Given the description of an element on the screen output the (x, y) to click on. 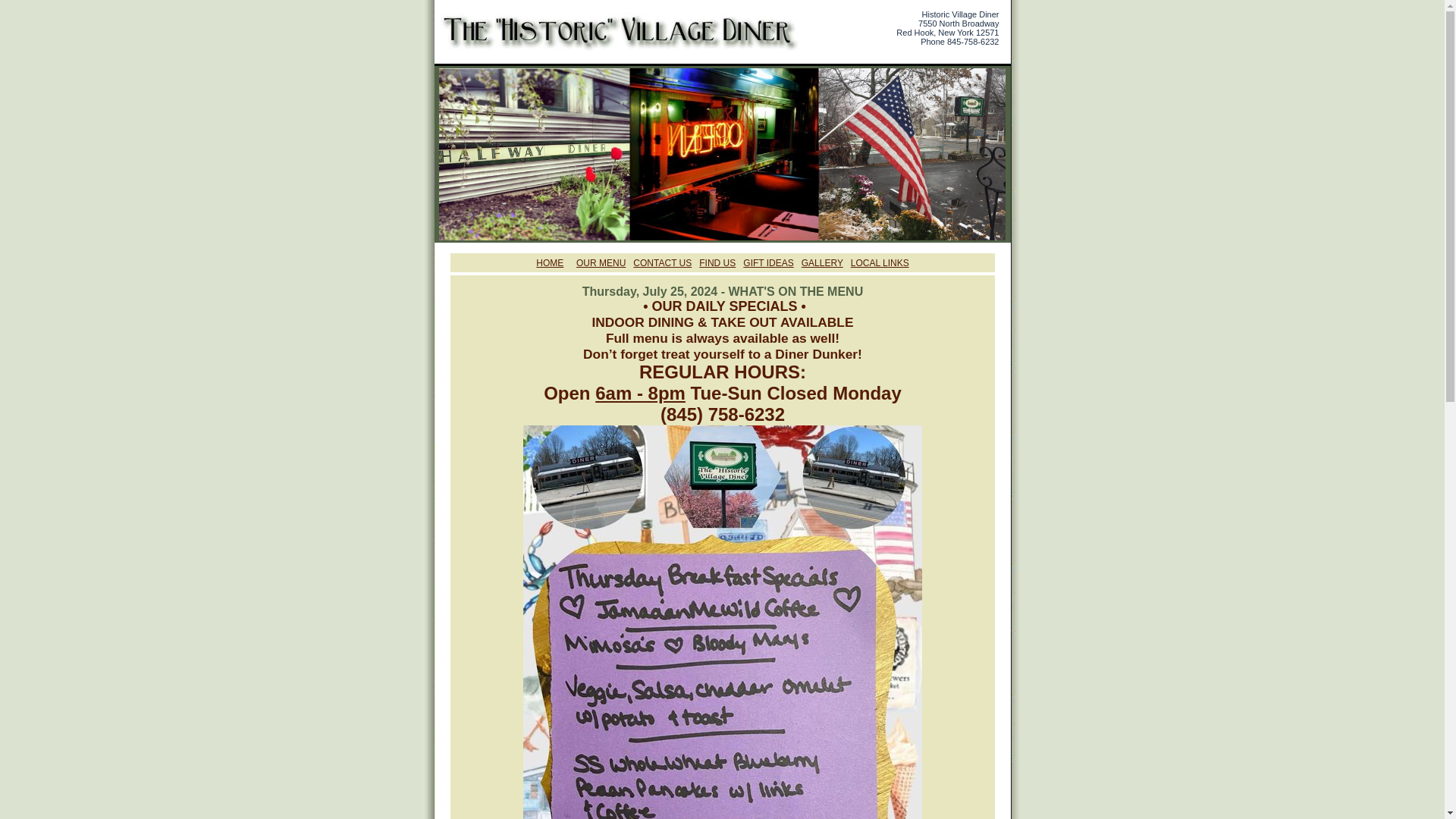
GALLERY (822, 262)
HOME (549, 262)
GIFT IDEAS (767, 262)
LOCAL LINKS (879, 262)
FIND US (716, 262)
OUR MENU (601, 262)
CONTACT US (662, 262)
